Given the description of an element on the screen output the (x, y) to click on. 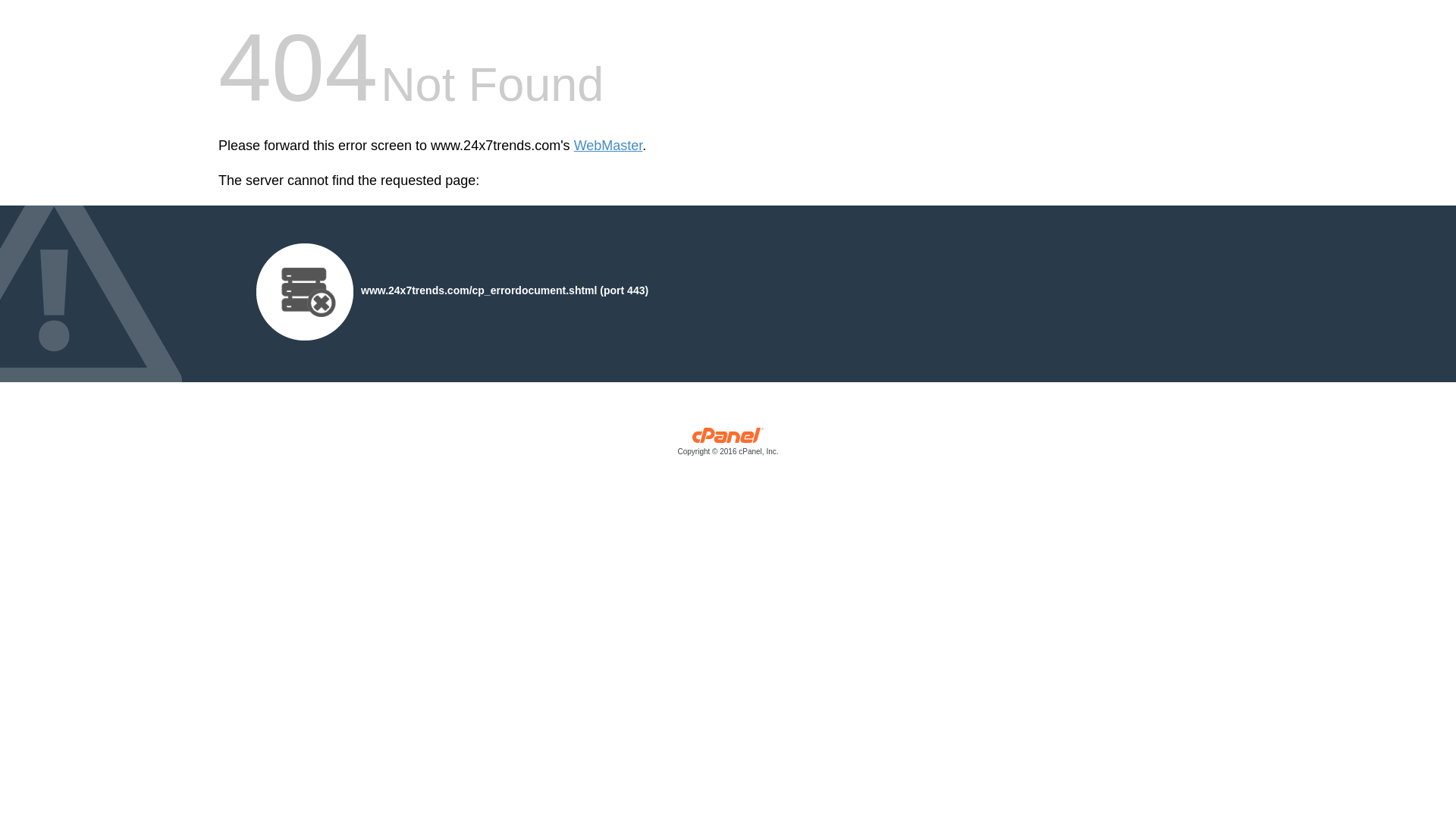
WebMaster Element type: text (608, 145)
